Given the description of an element on the screen output the (x, y) to click on. 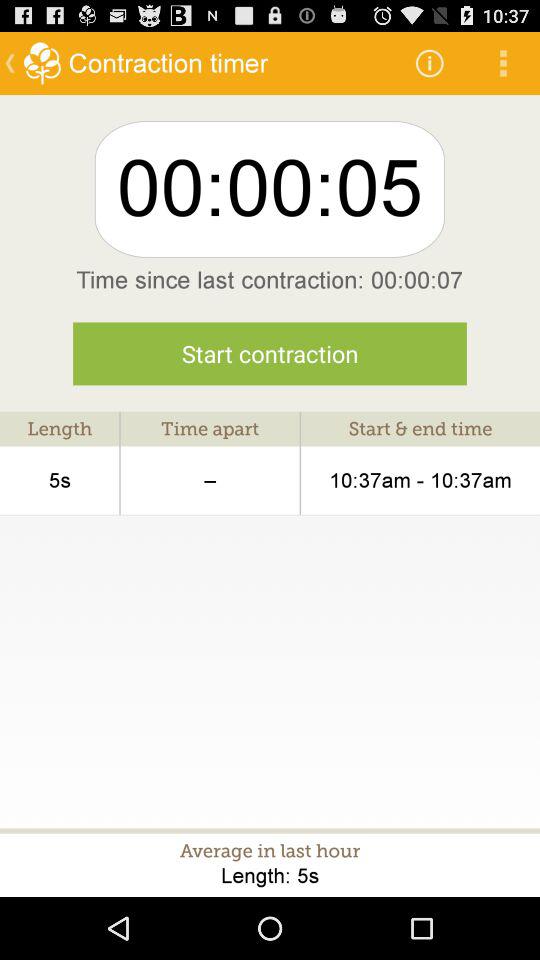
press the item below the time since last icon (269, 353)
